Given the description of an element on the screen output the (x, y) to click on. 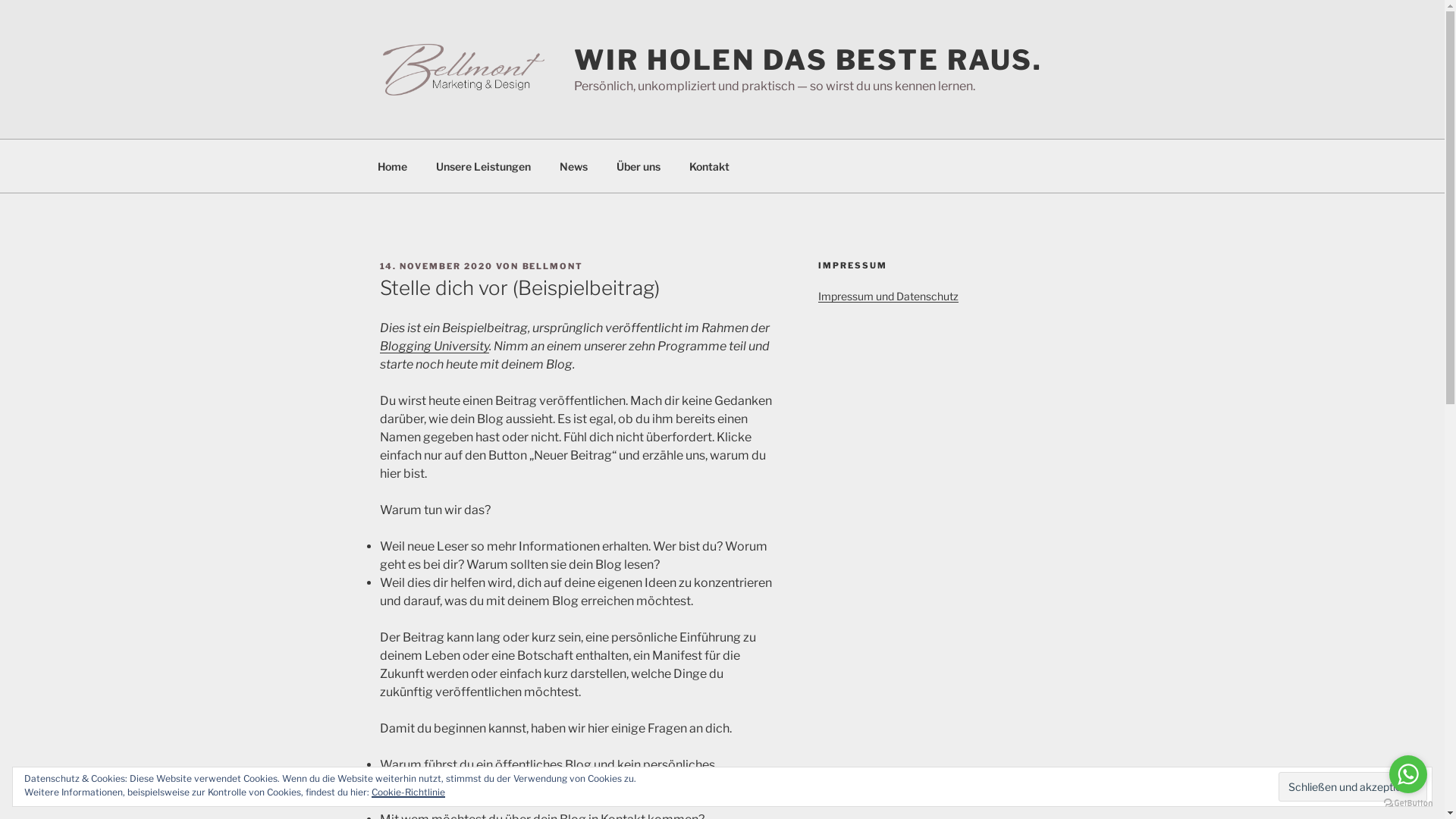
Kontakt Element type: text (709, 165)
Blogging University Element type: text (433, 345)
Cookie-Richtlinie Element type: text (408, 791)
Home Element type: text (392, 165)
WIR HOLEN DAS BESTE RAUS. Element type: text (808, 59)
News Element type: text (573, 165)
Impressum und Datenschutz Element type: text (888, 295)
Unsere Leistungen Element type: text (483, 165)
BELLMONT Element type: text (552, 265)
14. NOVEMBER 2020 Element type: text (435, 265)
